Given the description of an element on the screen output the (x, y) to click on. 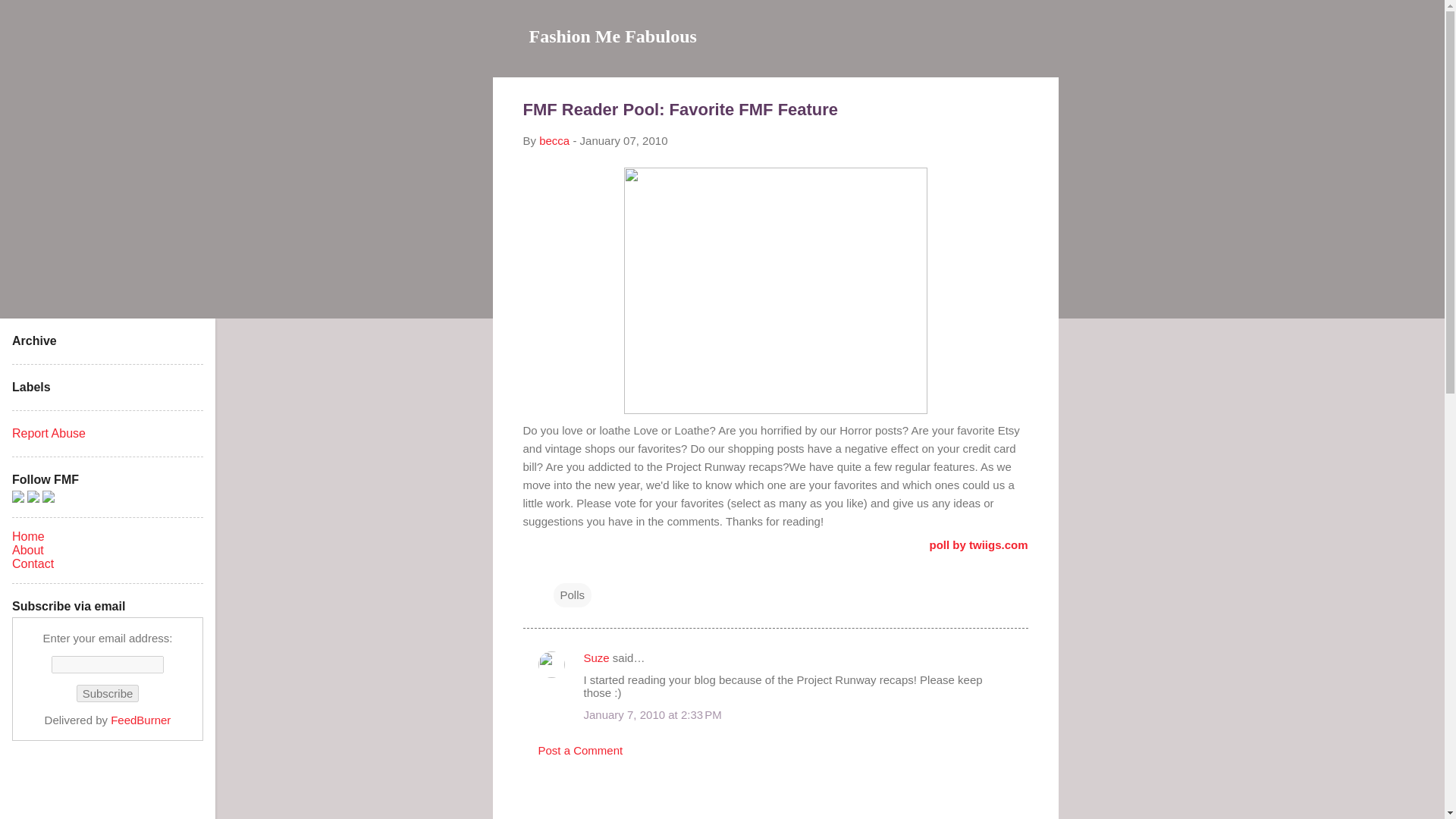
January 07, 2010 (623, 140)
Advertisement (1118, 304)
Polls (572, 594)
poll by twiigs.com (977, 544)
Post a Comment (580, 749)
permanent link (623, 140)
Advertisement (1118, 681)
Subscribe (108, 692)
Suze (596, 657)
Fashion Me Fabulous (613, 35)
author profile (553, 140)
becca (553, 140)
Search (29, 18)
